Given the description of an element on the screen output the (x, y) to click on. 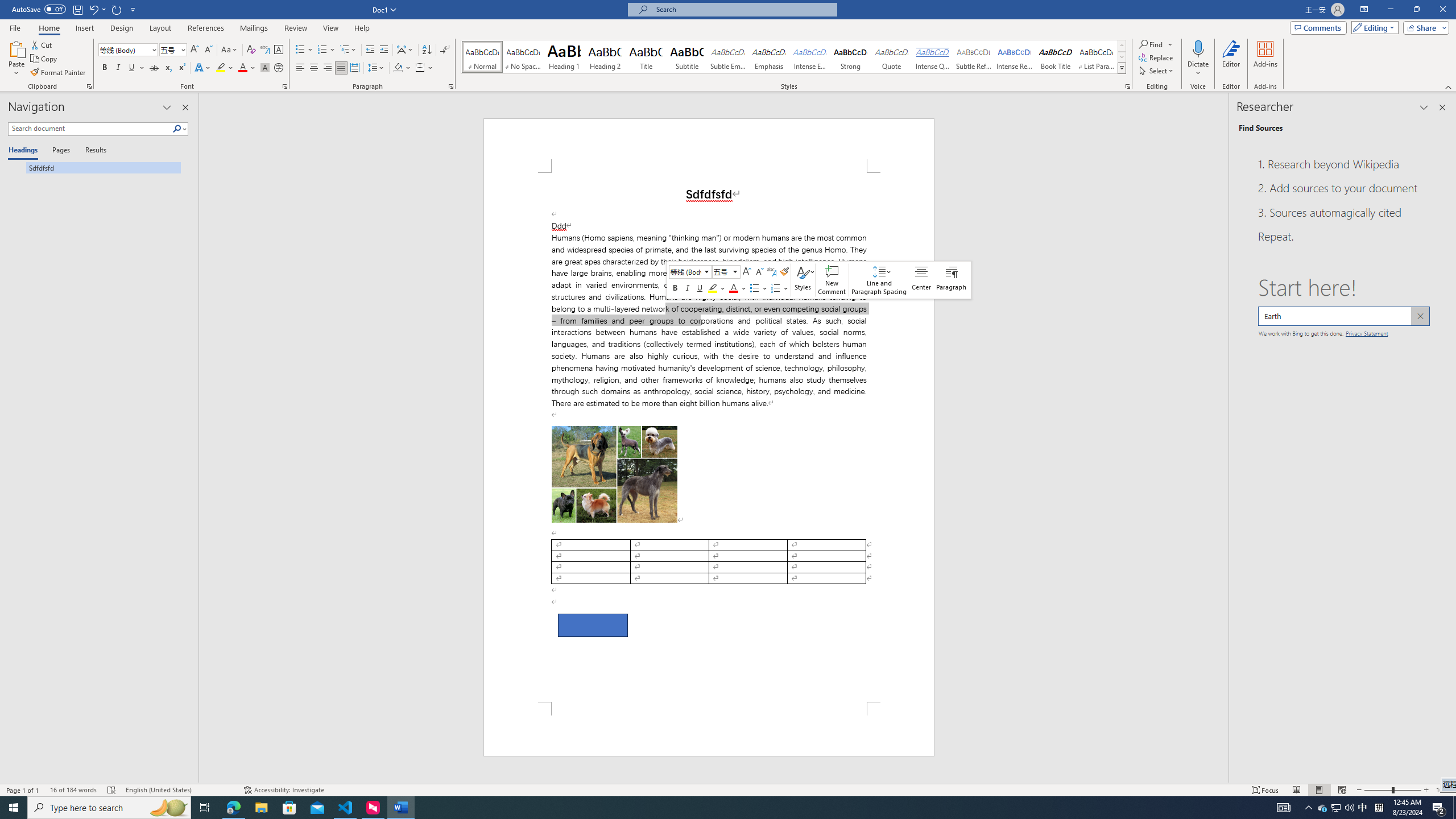
Class: NetUIAnchor (879, 279)
Rectangle 2 (592, 625)
Font Color Red (241, 67)
Intense Reference (1014, 56)
